Given the description of an element on the screen output the (x, y) to click on. 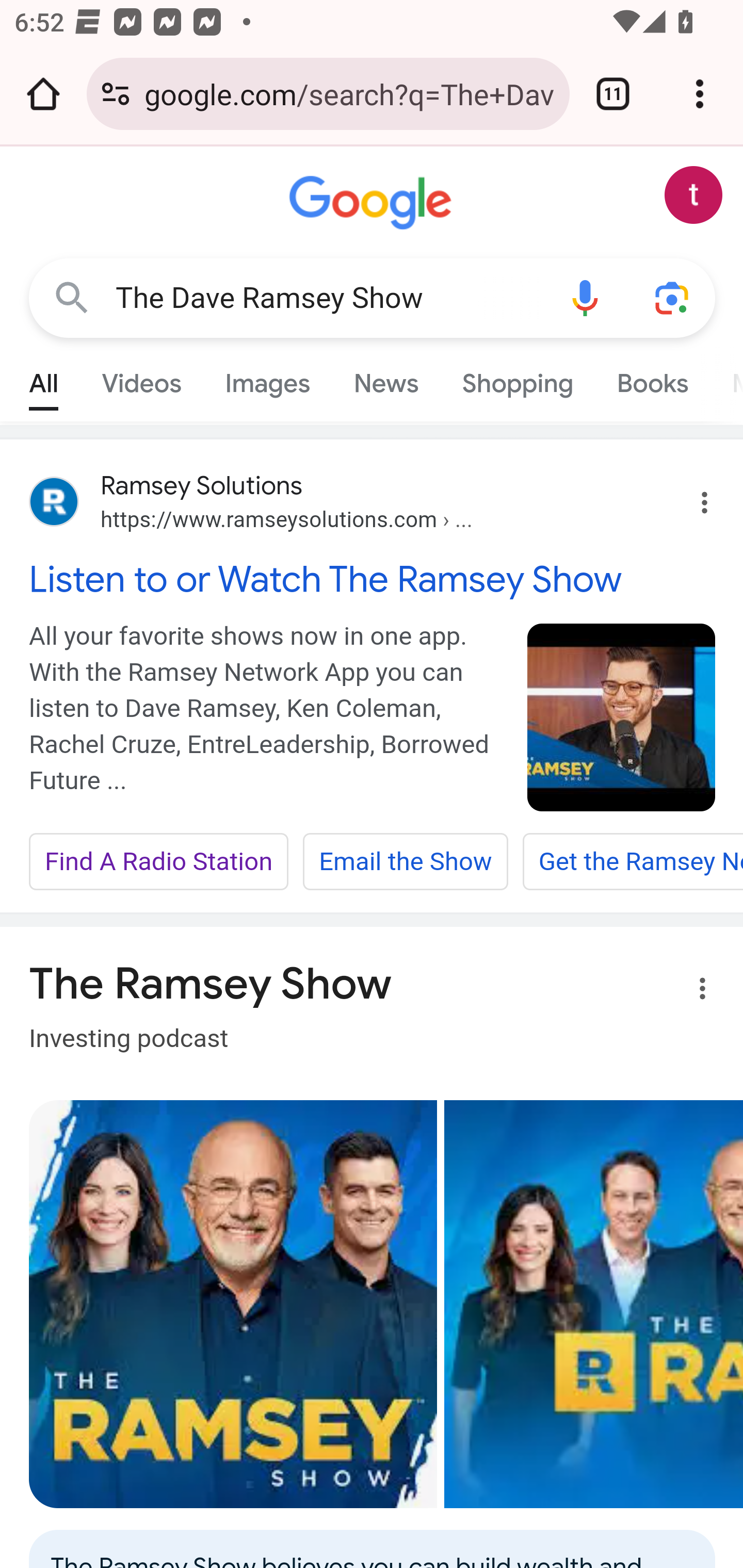
Open the home page (43, 93)
Connection is secure (115, 93)
Switch or close tabs (612, 93)
Customize and control Google Chrome (699, 93)
Google (372, 203)
Google Search (71, 296)
Search using your camera or photos (672, 296)
The Dave Ramsey Show (328, 297)
Videos (141, 378)
Images (267, 378)
News (385, 378)
Shopping (516, 378)
Books (652, 378)
Listen to or Watch The Ramsey Show (372, 579)
the-ramsey-show (621, 717)
Find A Radio Station (158, 862)
Email the Show (404, 862)
Get the Ramsey Network App (632, 862)
More options (690, 991)
Ramsey Network - Ramsey (233, 1303)
The Ramsey Show - KXRO News Radio (593, 1303)
